Given the description of an element on the screen output the (x, y) to click on. 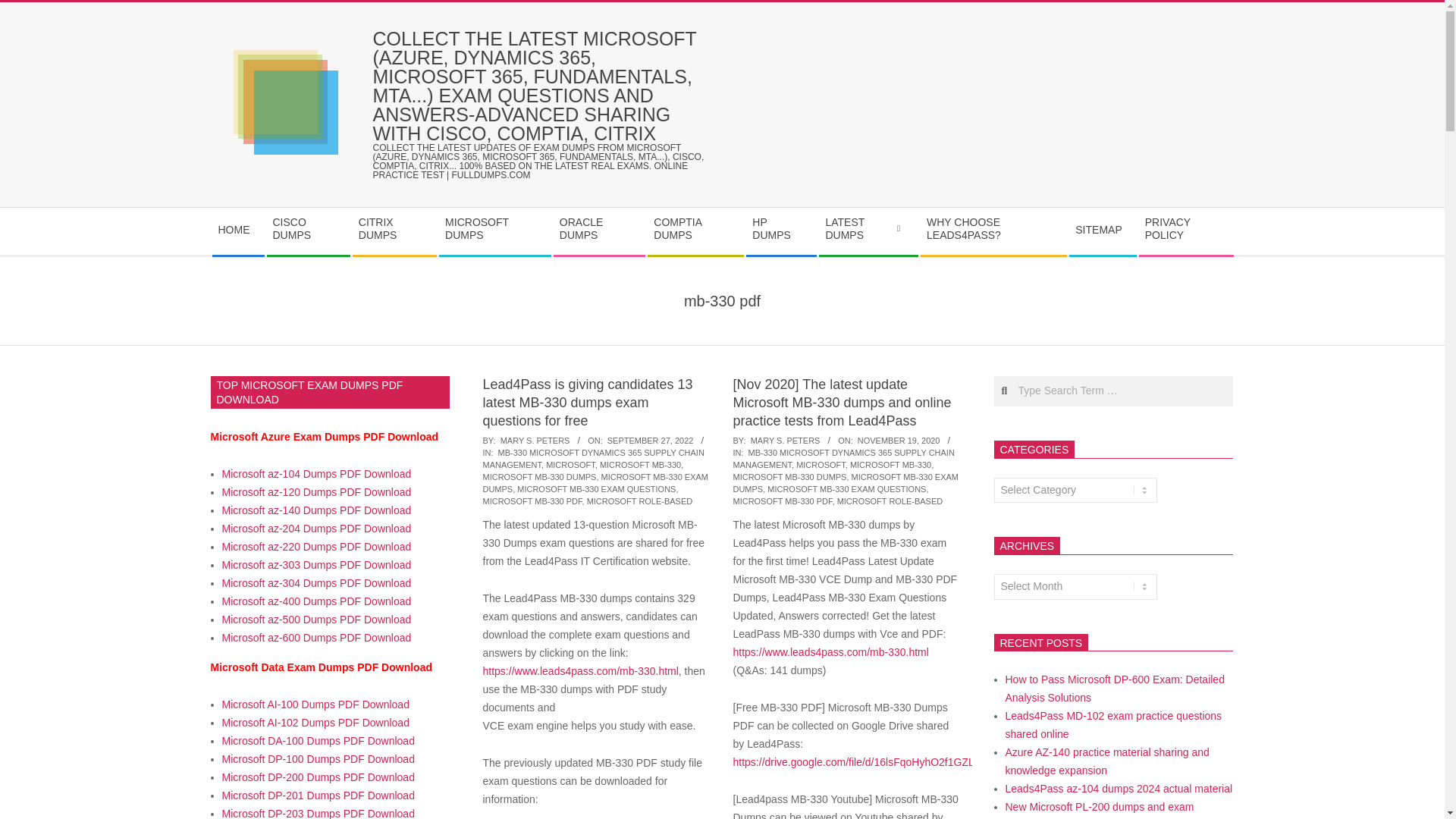
MICROSOFT MB-330 DUMPS (538, 476)
MICROSOFT ROLE-BASED (639, 501)
MICROSOFT MB-330 EXAM DUMPS (594, 482)
MB-330 MICROSOFT DYNAMICS 365 SUPPLY CHAIN MANAGEMENT (842, 458)
MICROSOFT (570, 464)
MICROSOFT MB-330 (640, 464)
CITRIX DUMPS (394, 231)
MICROSOFT MB-330 PDF (530, 501)
HP DUMPS (780, 231)
COMPTIA DUMPS (695, 231)
